Given the description of an element on the screen output the (x, y) to click on. 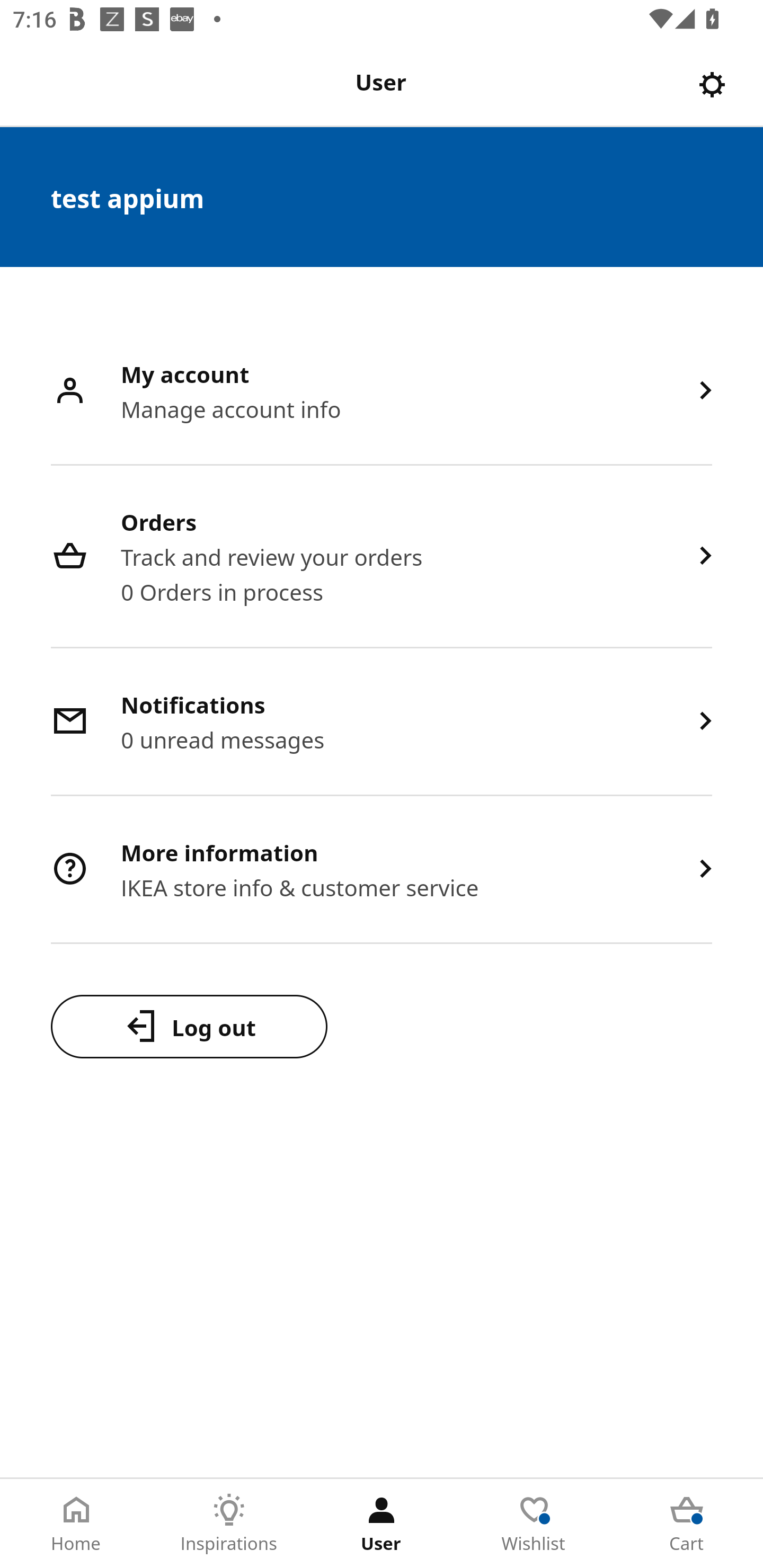
My account
Manage account info (381, 391)
Notifications
0 unread messages (381, 722)
Log out (189, 1026)
Home
Tab 1 of 5 (76, 1522)
Inspirations
Tab 2 of 5 (228, 1522)
User
Tab 3 of 5 (381, 1522)
Wishlist
Tab 4 of 5 (533, 1522)
Cart
Tab 5 of 5 (686, 1522)
